Given the description of an element on the screen output the (x, y) to click on. 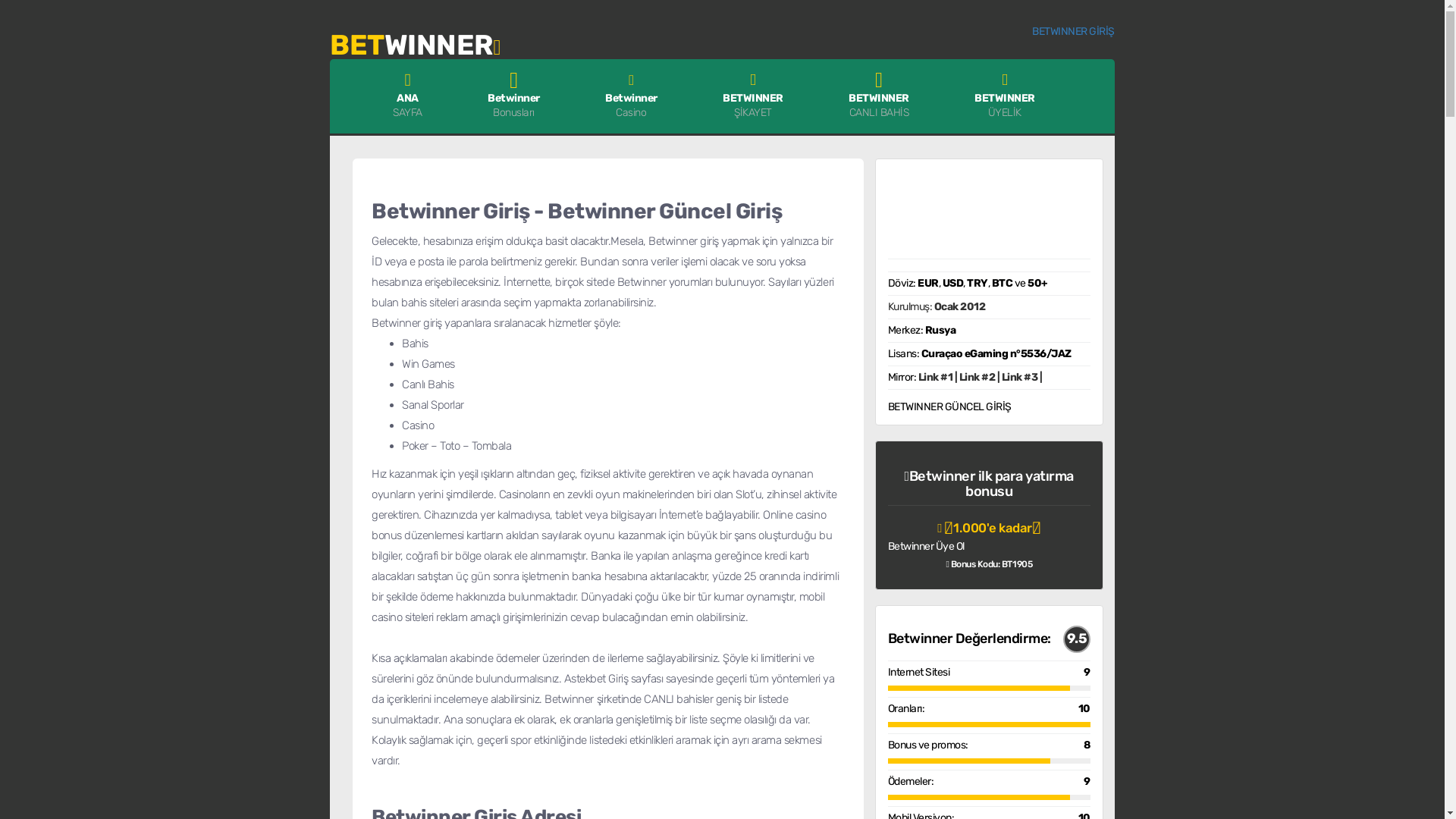
Betwinner
Casino Element type: text (631, 92)
ANA
SAYFA Element type: text (407, 92)
BETWINNER Element type: text (414, 40)
